Given the description of an element on the screen output the (x, y) to click on. 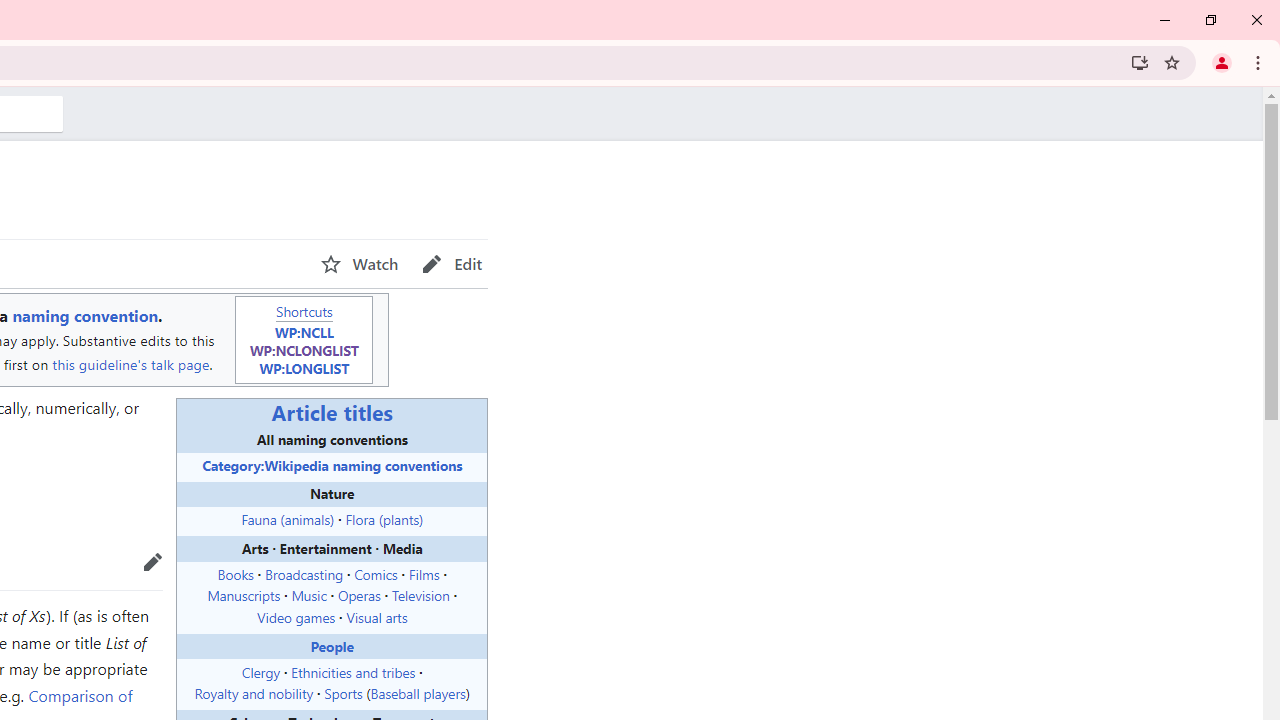
Sports (343, 693)
Operas (358, 595)
Category:Wikipedia naming conventions (332, 464)
WP:NCLONGLIST (303, 349)
Edit (452, 264)
Install Wikipedia (1139, 62)
Television (420, 595)
Clergy (260, 671)
Ethnicities and tribes (353, 671)
WP:NCLL (303, 332)
edit (152, 561)
Shortcuts (303, 309)
Baseball players (417, 693)
